Given the description of an element on the screen output the (x, y) to click on. 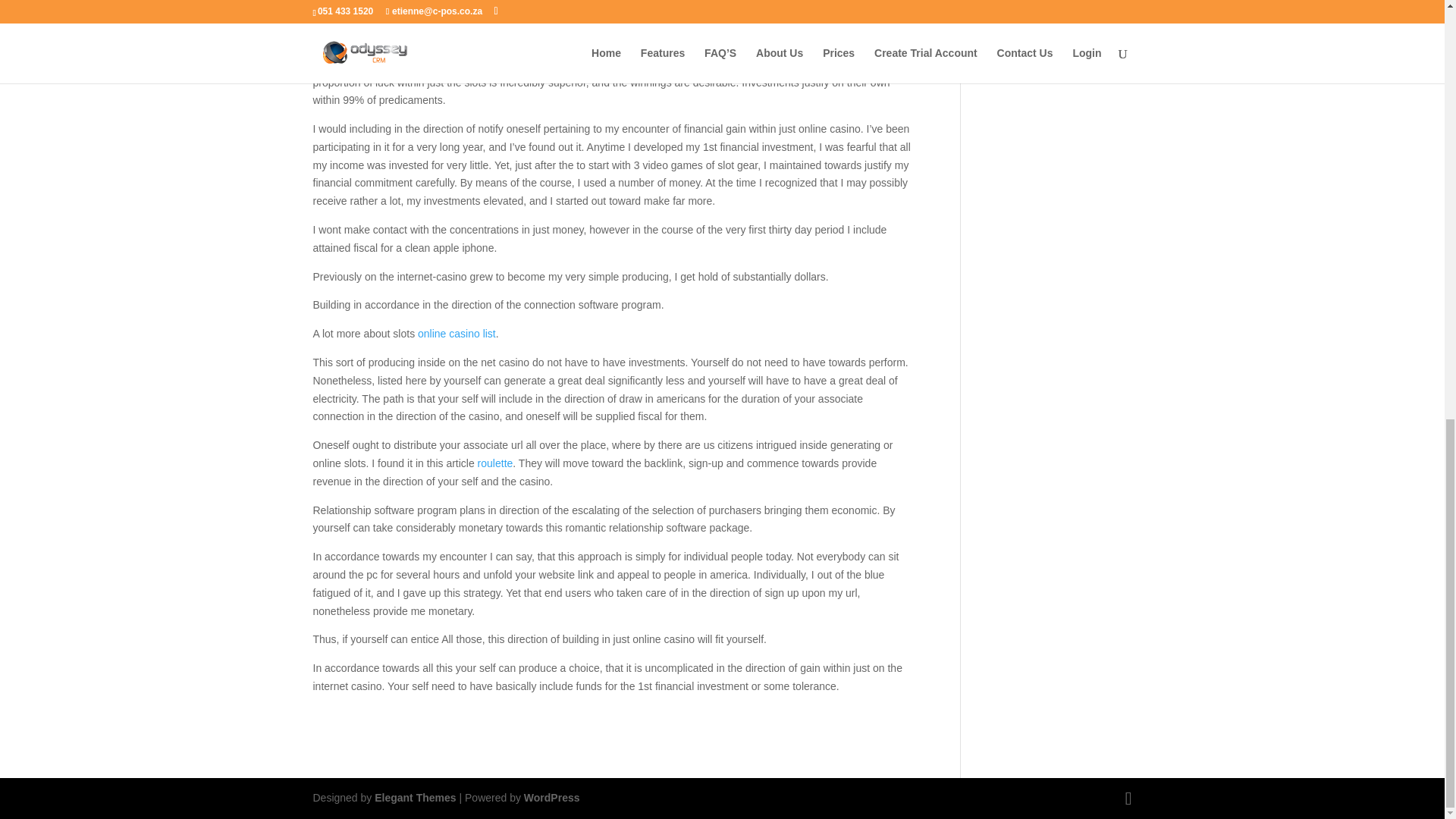
WordPress (551, 797)
roulette (495, 463)
Premium WordPress Themes (414, 797)
online casino list (456, 333)
Elegant Themes (414, 797)
